Given the description of an element on the screen output the (x, y) to click on. 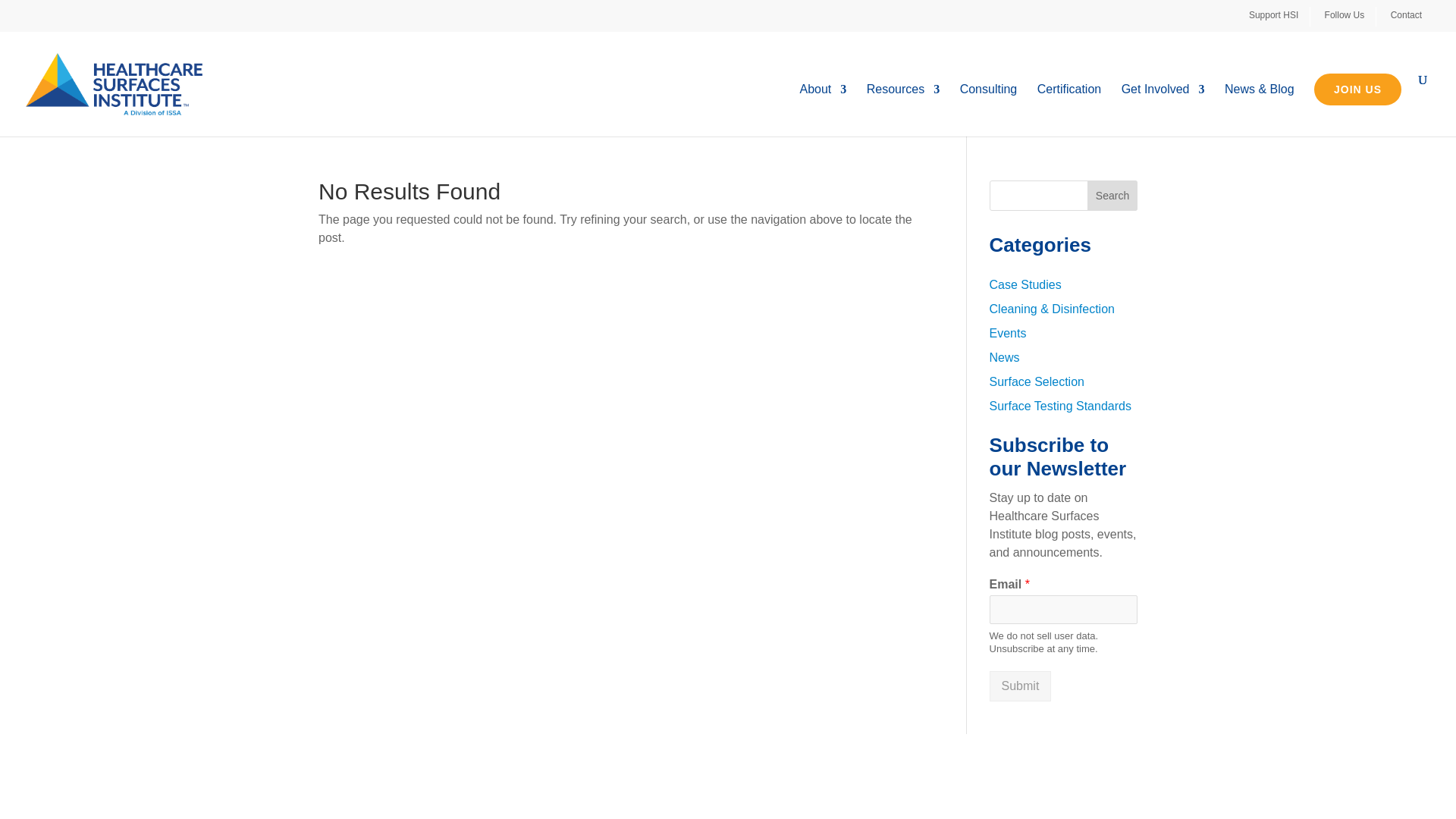
Follow Us (1349, 16)
About (822, 110)
Search (1112, 195)
Resources (902, 110)
Consulting (988, 110)
Get Involved (1163, 110)
Contact (1411, 16)
Support HSI (1278, 16)
Certification (1068, 110)
JOIN US (1357, 89)
